Given the description of an element on the screen output the (x, y) to click on. 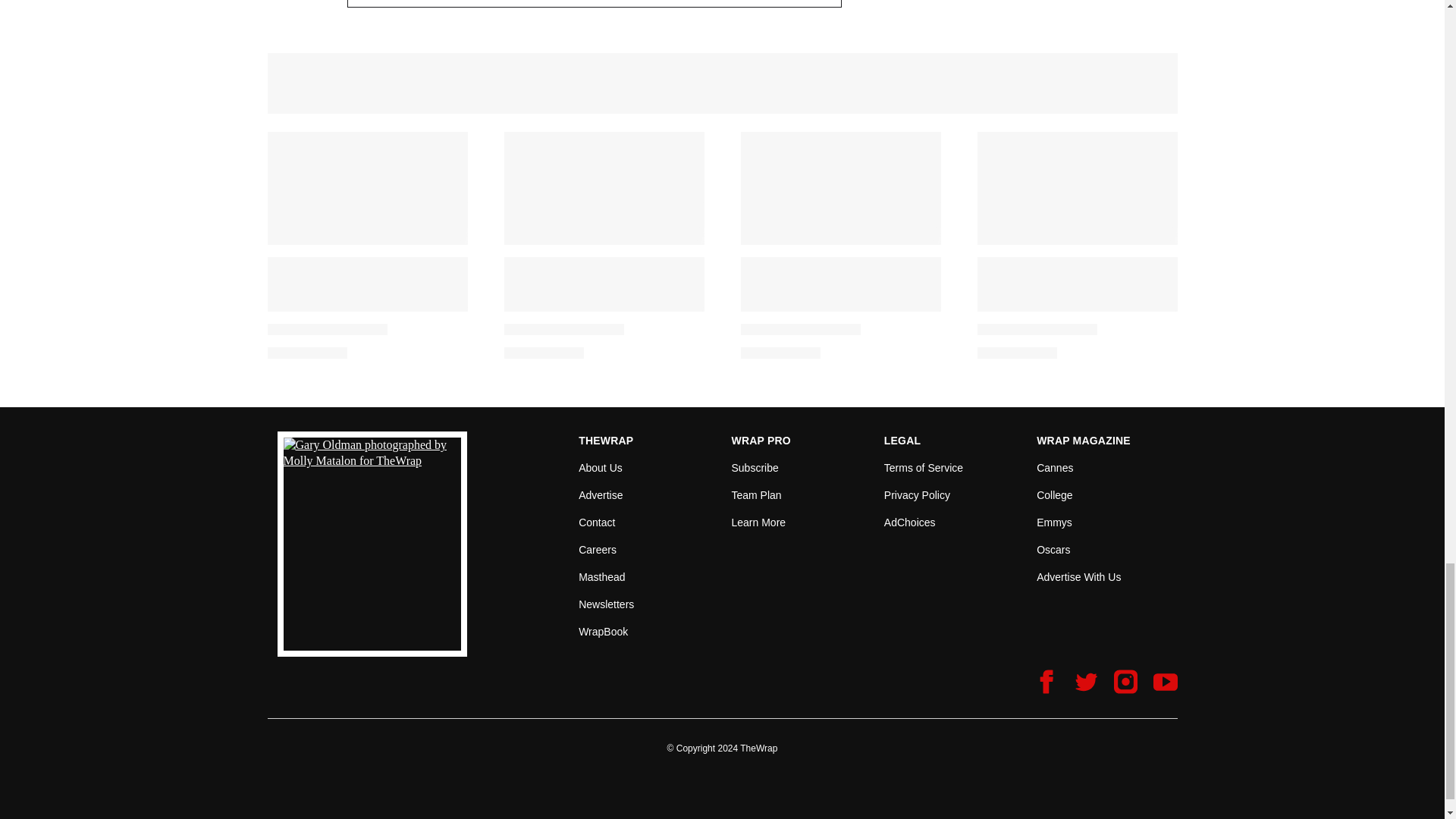
Learn more about becoming a member (758, 522)
